Given the description of an element on the screen output the (x, y) to click on. 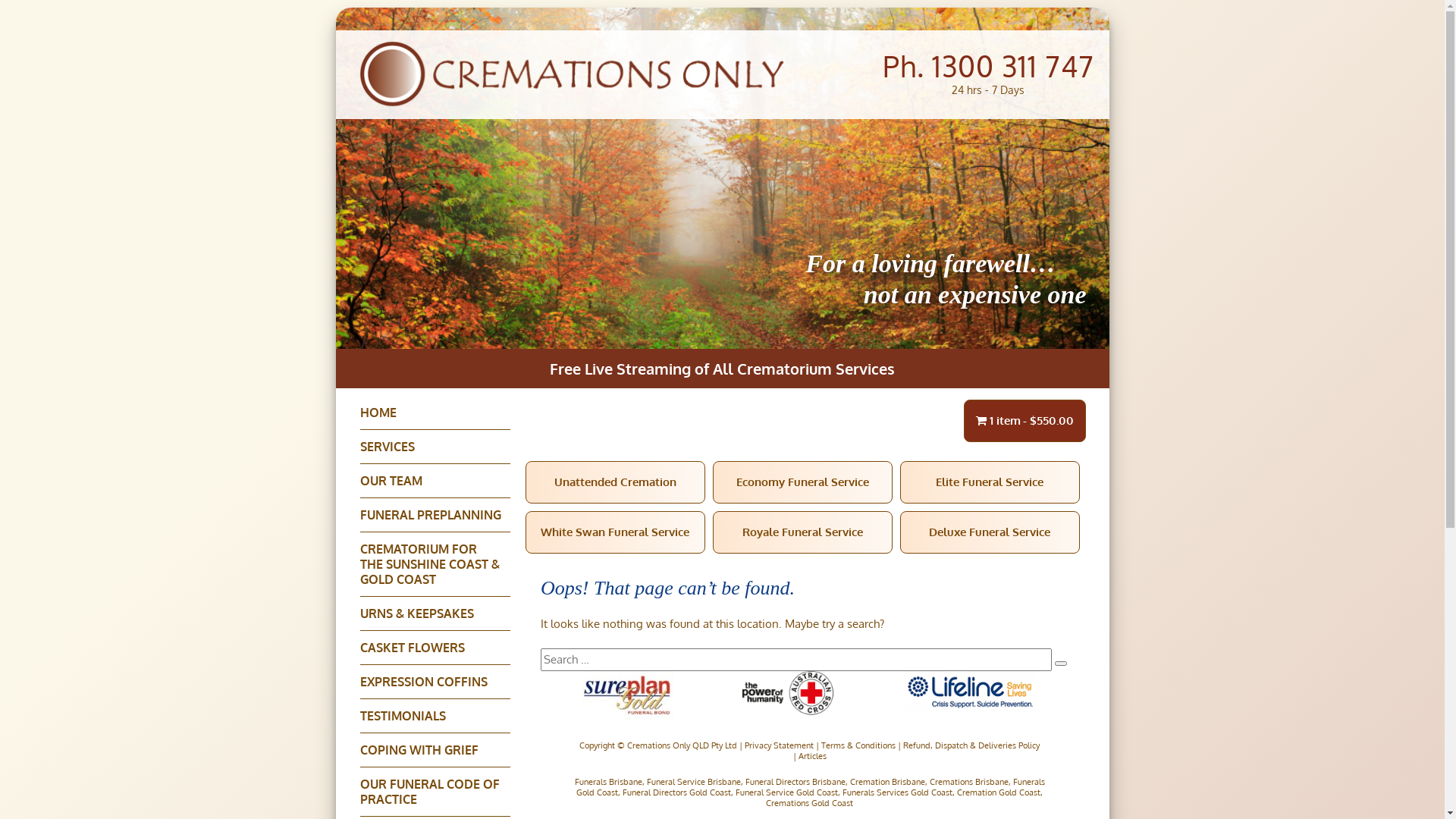
CREMATORIUM FOR THE SUNSHINE COAST & GOLD COAST Element type: text (434, 564)
SERVICES Element type: text (434, 446)
Royale Funeral Service Element type: text (802, 532)
Articles Element type: text (811, 755)
Ph. 1300 311 747 Element type: text (988, 65)
Economy Funeral Service Element type: text (802, 482)
Privacy Statement Element type: text (779, 745)
FUNERAL PREPLANNING Element type: text (434, 515)
EXPRESSION COFFINS Element type: text (434, 682)
Terms & Conditions Element type: text (858, 745)
Elite Funeral Service Element type: text (989, 482)
Search Element type: text (1060, 663)
URNS & KEEPSAKES Element type: text (434, 613)
OUR FUNERAL CODE OF PRACTICE Element type: text (434, 791)
Search for: Element type: hover (795, 659)
Unattended Cremation Element type: text (615, 482)
Deluxe Funeral Service Element type: text (989, 532)
CASKET FLOWERS Element type: text (434, 647)
TESTIMONIALS Element type: text (434, 716)
COPING WITH GRIEF Element type: text (434, 750)
1 item$550.00 Element type: text (1024, 420)
OUR TEAM Element type: text (434, 481)
HOME Element type: text (434, 412)
White Swan Funeral Service Element type: text (615, 532)
Refund, Dispatch & Deliveries Policy Element type: text (971, 745)
